Given the description of an element on the screen output the (x, y) to click on. 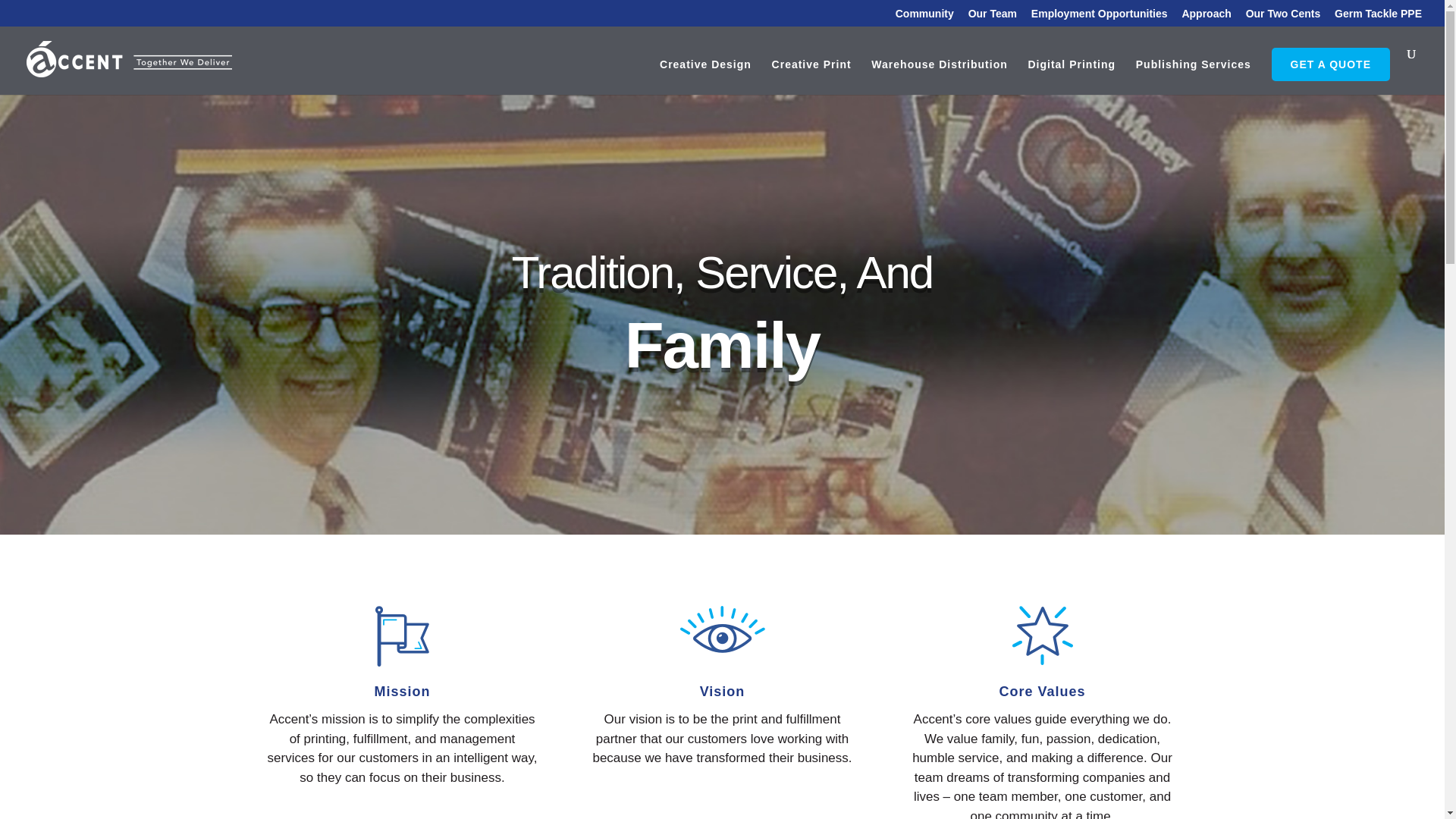
GET A QUOTE (1330, 64)
Digital Printing (1071, 76)
Germ Tackle PPE (1378, 16)
Creative Print (811, 76)
Employment Opportunities (1098, 16)
Approach (1205, 16)
Community (924, 16)
Our Two Cents (1283, 16)
Warehouse Distribution (938, 76)
Creative Design (705, 76)
